Given the description of an element on the screen output the (x, y) to click on. 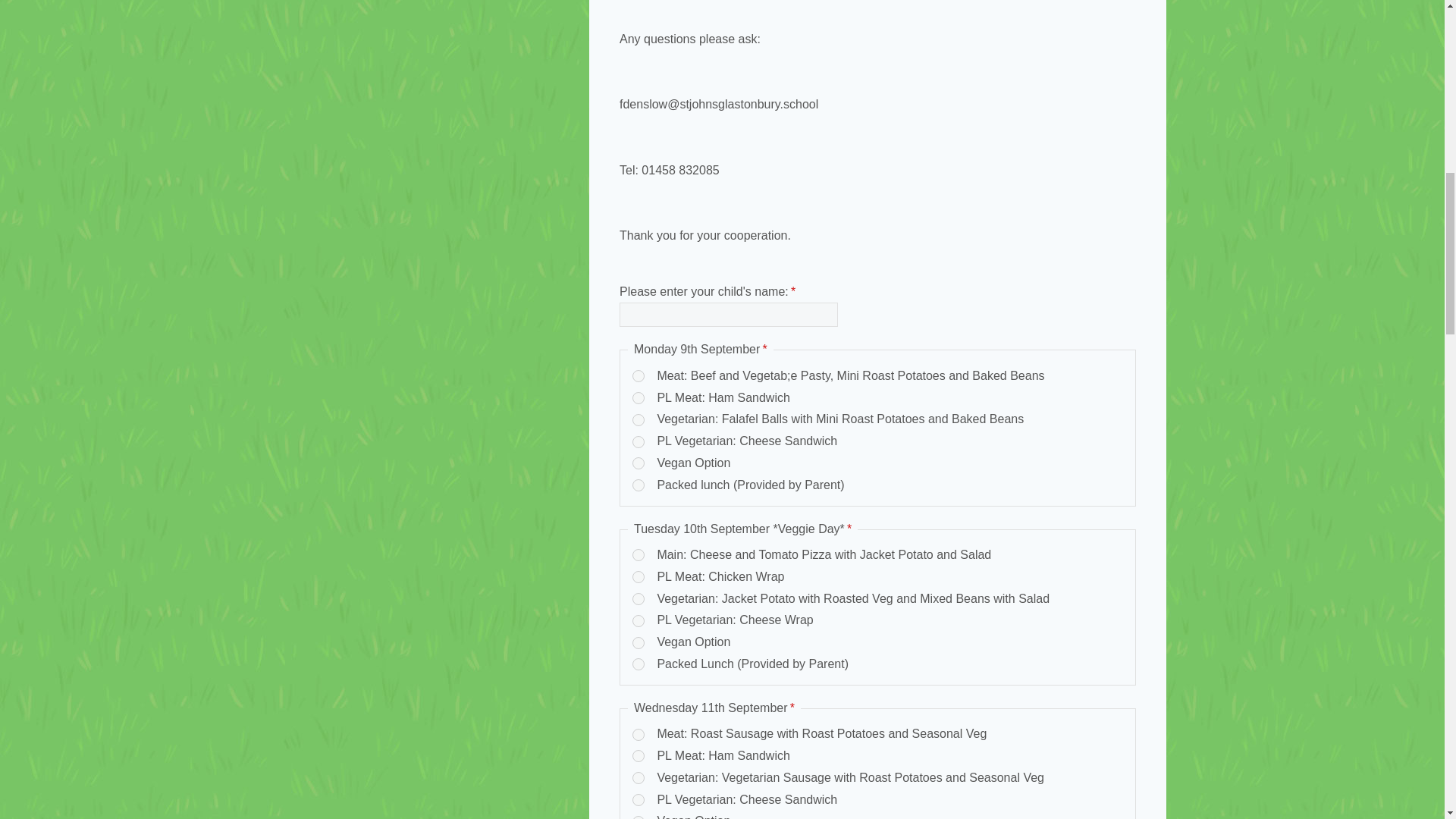
Main: Cheese and Tomato Pizza with Jacket Potato and Salad (638, 554)
PL Meat: Ham Sandwich (638, 756)
Vegan Option (638, 463)
Vegan Option (638, 817)
PL Vegetarian: Cheese Sandwich (638, 441)
PL Vegetarian: Cheese Sandwich (638, 799)
PL Meat: Chicken Wrap (638, 576)
Vegan Option (638, 643)
